Given the description of an element on the screen output the (x, y) to click on. 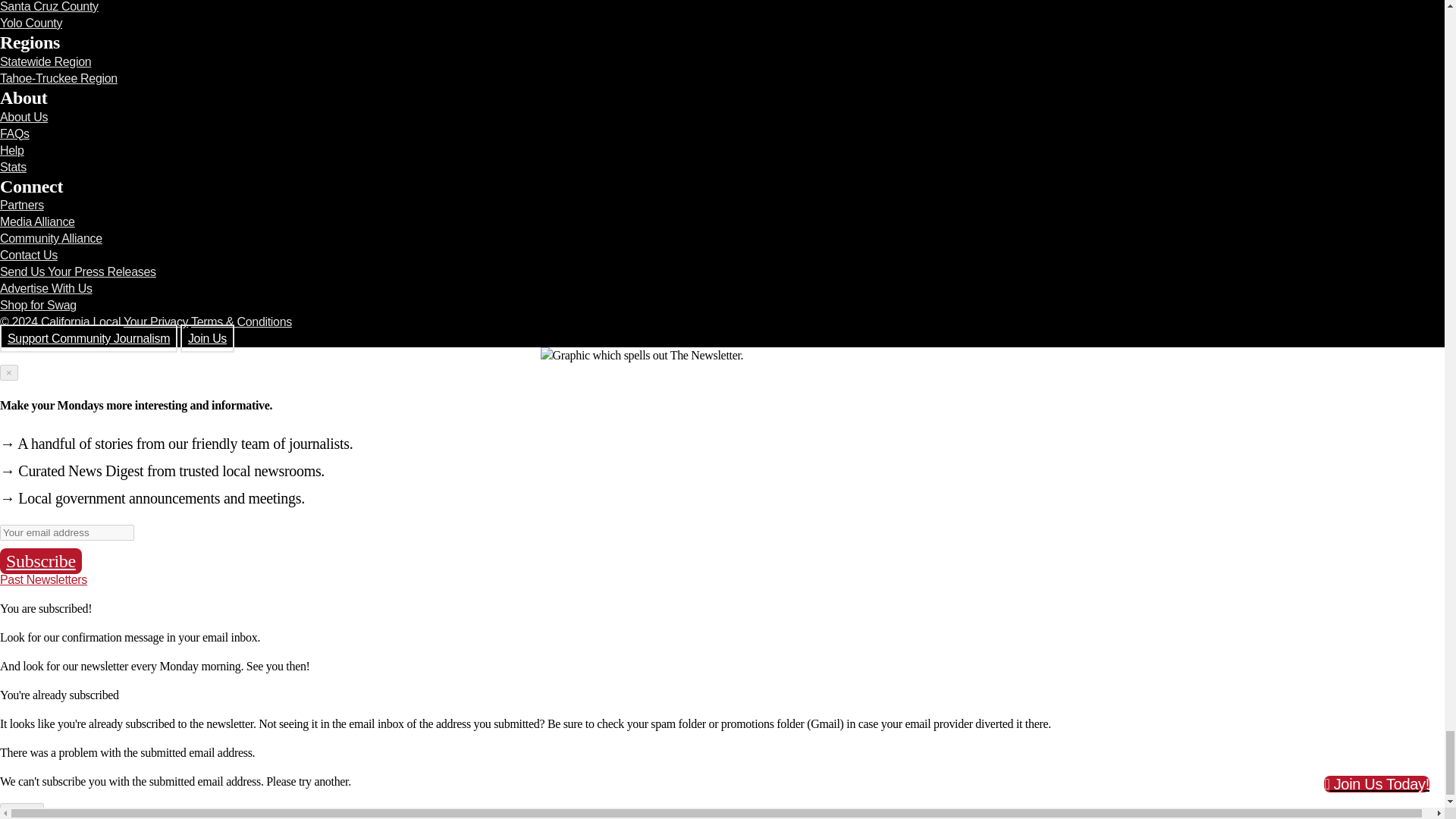
The Newsletter (722, 355)
